Given the description of an element on the screen output the (x, y) to click on. 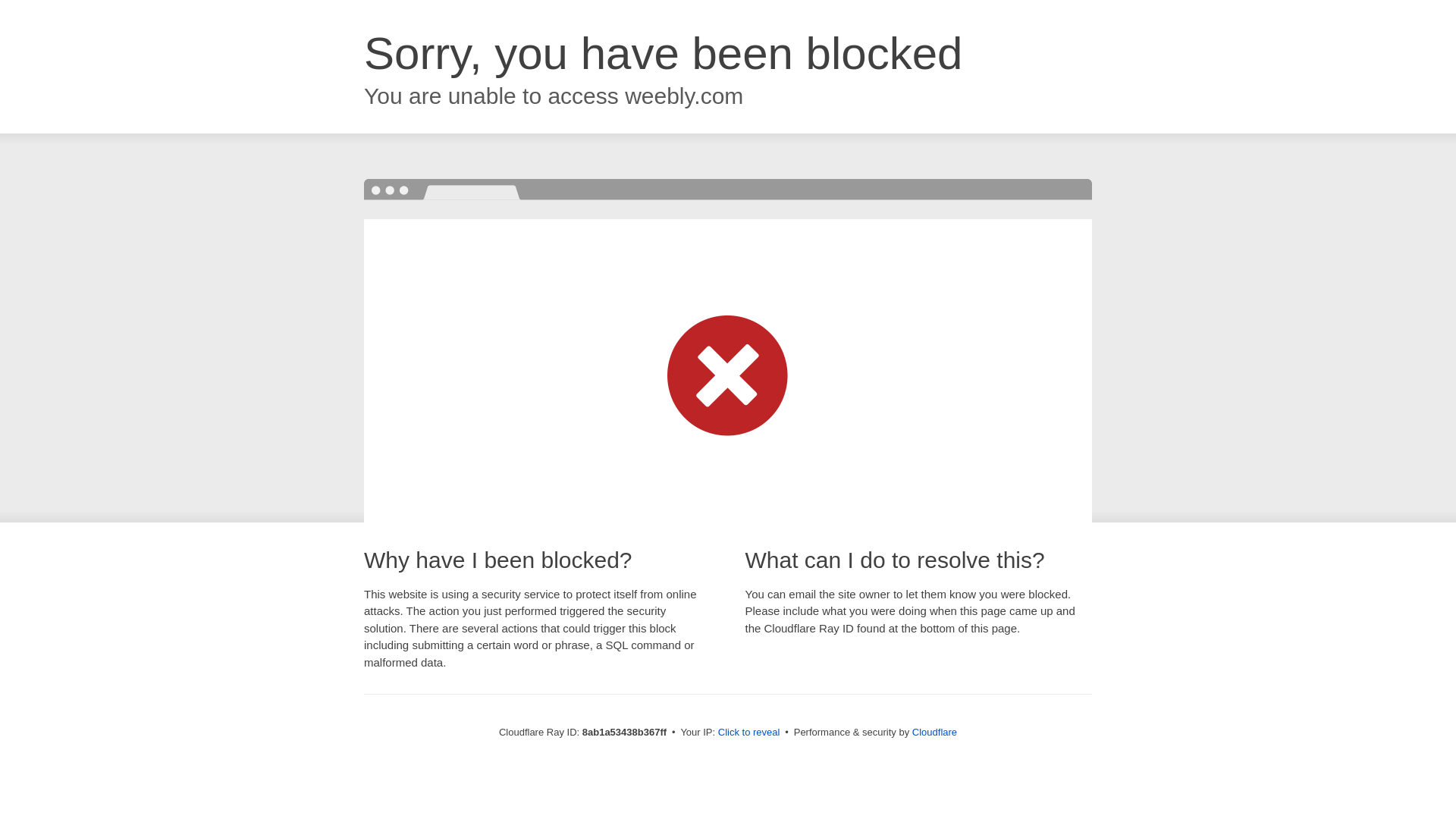
Click to reveal (748, 732)
Cloudflare (934, 731)
